Given the description of an element on the screen output the (x, y) to click on. 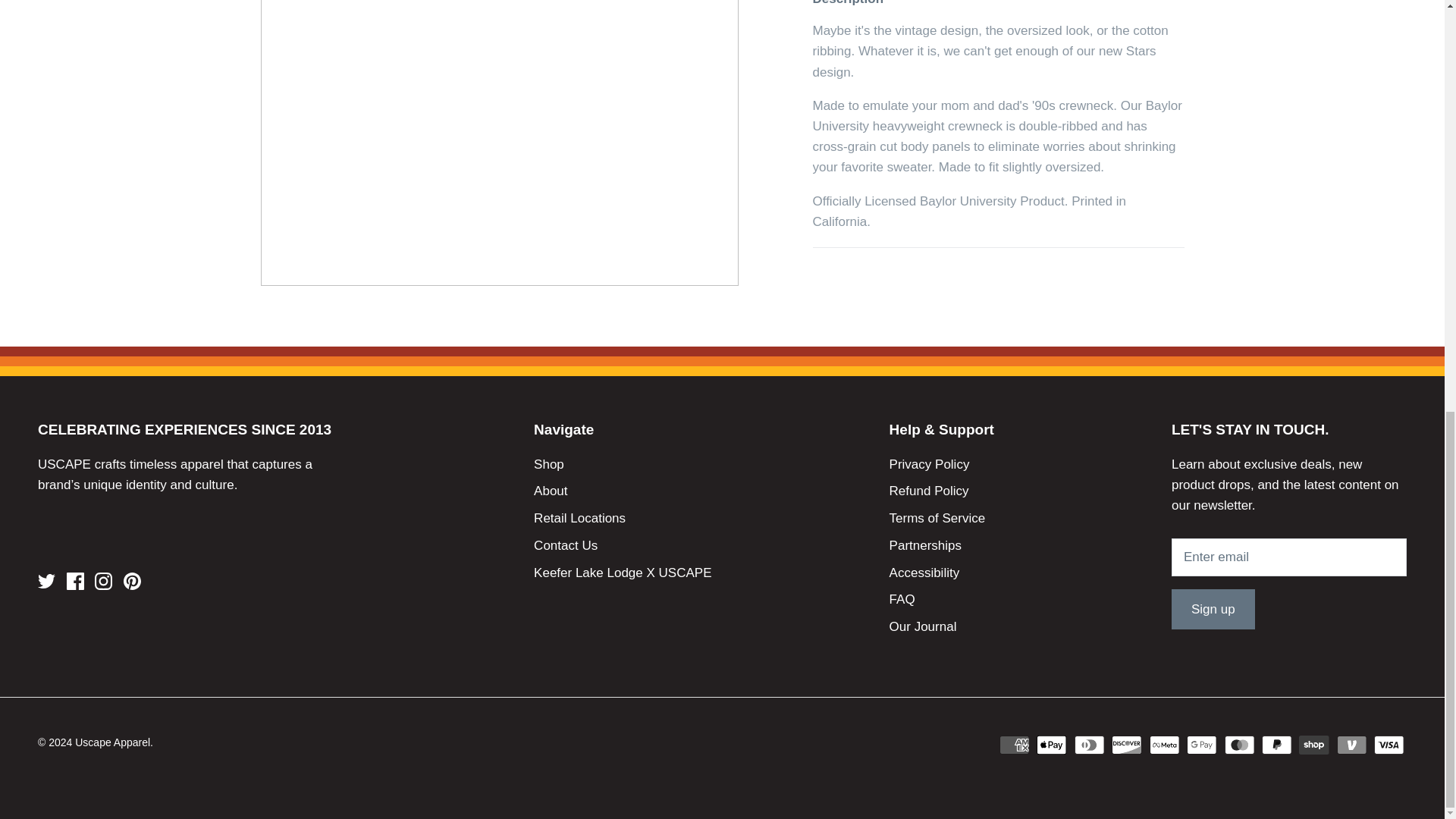
Instagram (103, 580)
Apple Pay (1051, 744)
Facebook (75, 580)
American Express (1013, 744)
Diners Club (1089, 744)
Google Pay (1201, 744)
Pinterest (132, 580)
Meta Pay (1164, 744)
Twitter (46, 580)
Discover (1126, 744)
